Given the description of an element on the screen output the (x, y) to click on. 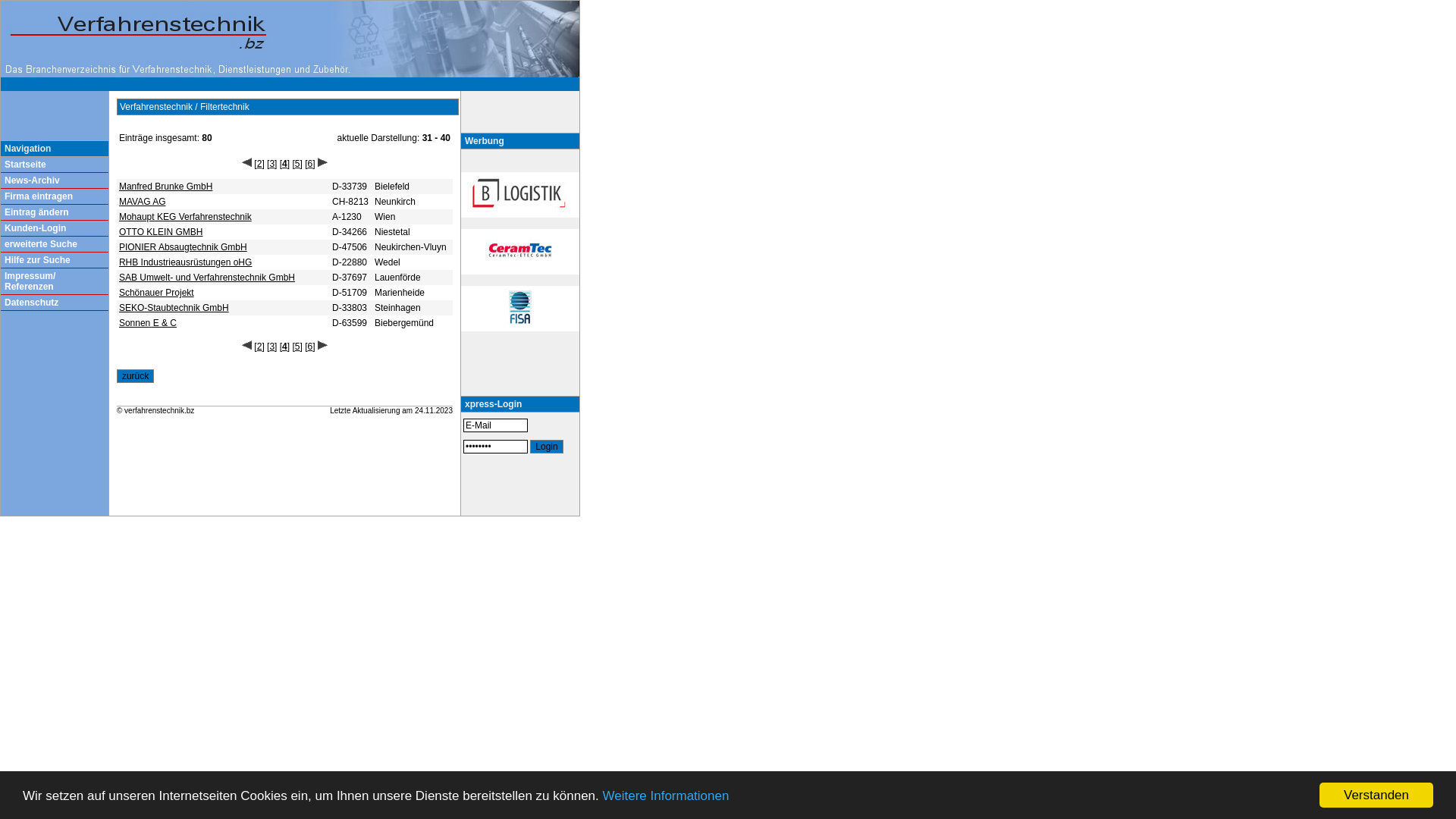
SAB Umwelt- und Verfahrenstechnik GmbH Element type: text (206, 277)
Impressum/
Referenzen Element type: text (29, 280)
PIONIER Absaugtechnik GmbH Element type: text (183, 246)
Sonnen E & C Element type: text (147, 322)
News-Archiv Element type: text (31, 180)
Firma eintragen Element type: text (38, 196)
4 Element type: text (284, 163)
4 Element type: text (284, 346)
erweiterte Suche Element type: text (40, 243)
3 Element type: text (271, 346)
3 Element type: text (271, 163)
SEKO-Staubtechnik GmbH Element type: text (174, 307)
Startseite Element type: text (25, 164)
Weitere Informationen Element type: text (665, 795)
Datenschutz Element type: text (31, 302)
Mohaupt KEG Verfahrenstechnik Element type: text (185, 216)
Manfred Brunke GmbH Element type: text (165, 186)
Verstanden Element type: text (1376, 794)
Hilfe zur Suche Element type: text (37, 259)
5 Element type: text (297, 346)
Login Element type: text (546, 446)
5 Element type: text (297, 163)
OTTO KLEIN GMBH Element type: text (160, 231)
2 Element type: text (259, 163)
MAVAG AG Element type: text (142, 201)
2 Element type: text (259, 346)
6 Element type: text (310, 163)
6 Element type: text (310, 346)
Kunden-Login Element type: text (34, 227)
